Given the description of an element on the screen output the (x, y) to click on. 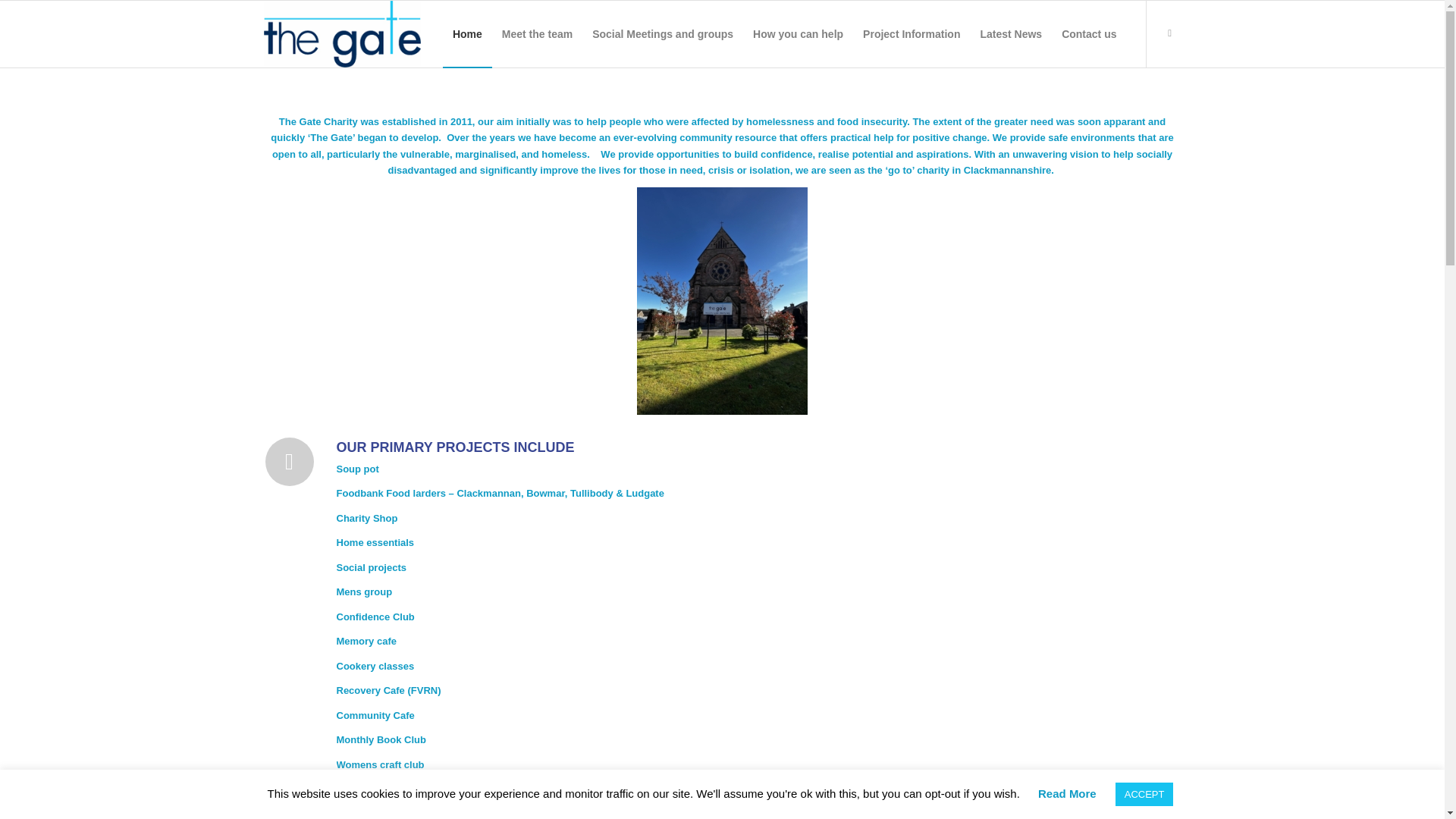
Contact us (1088, 33)
Latest News (1010, 33)
How you can help (797, 33)
Facebook (1169, 33)
Meet the team (537, 33)
the-gate-charity-logo (341, 33)
ACCEPT (1144, 793)
Project Information (911, 33)
Read More (1067, 793)
Social Meetings and groups (662, 33)
